Given the description of an element on the screen output the (x, y) to click on. 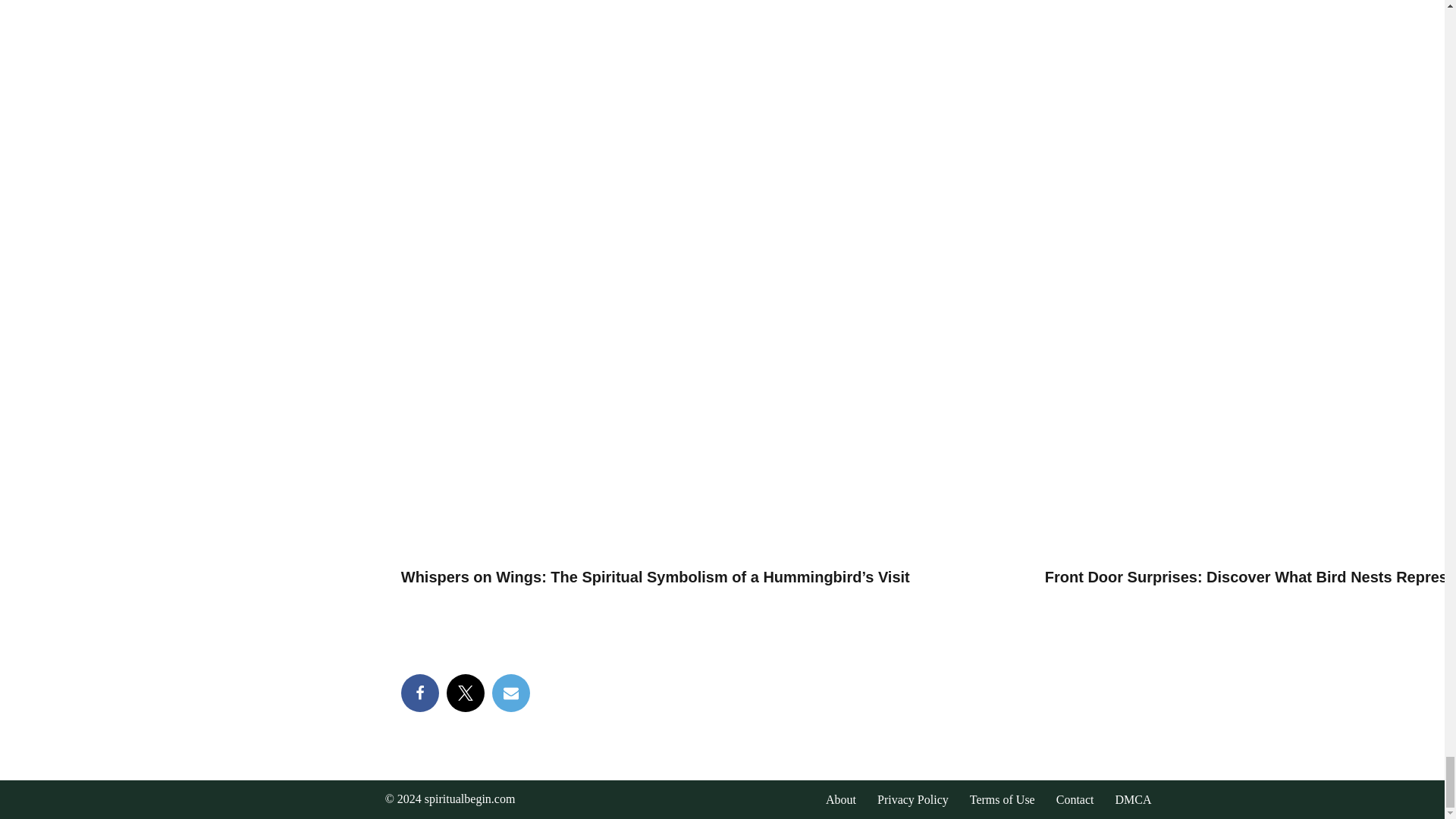
Email (510, 692)
X (465, 692)
Facebook (420, 692)
